Given the description of an element on the screen output the (x, y) to click on. 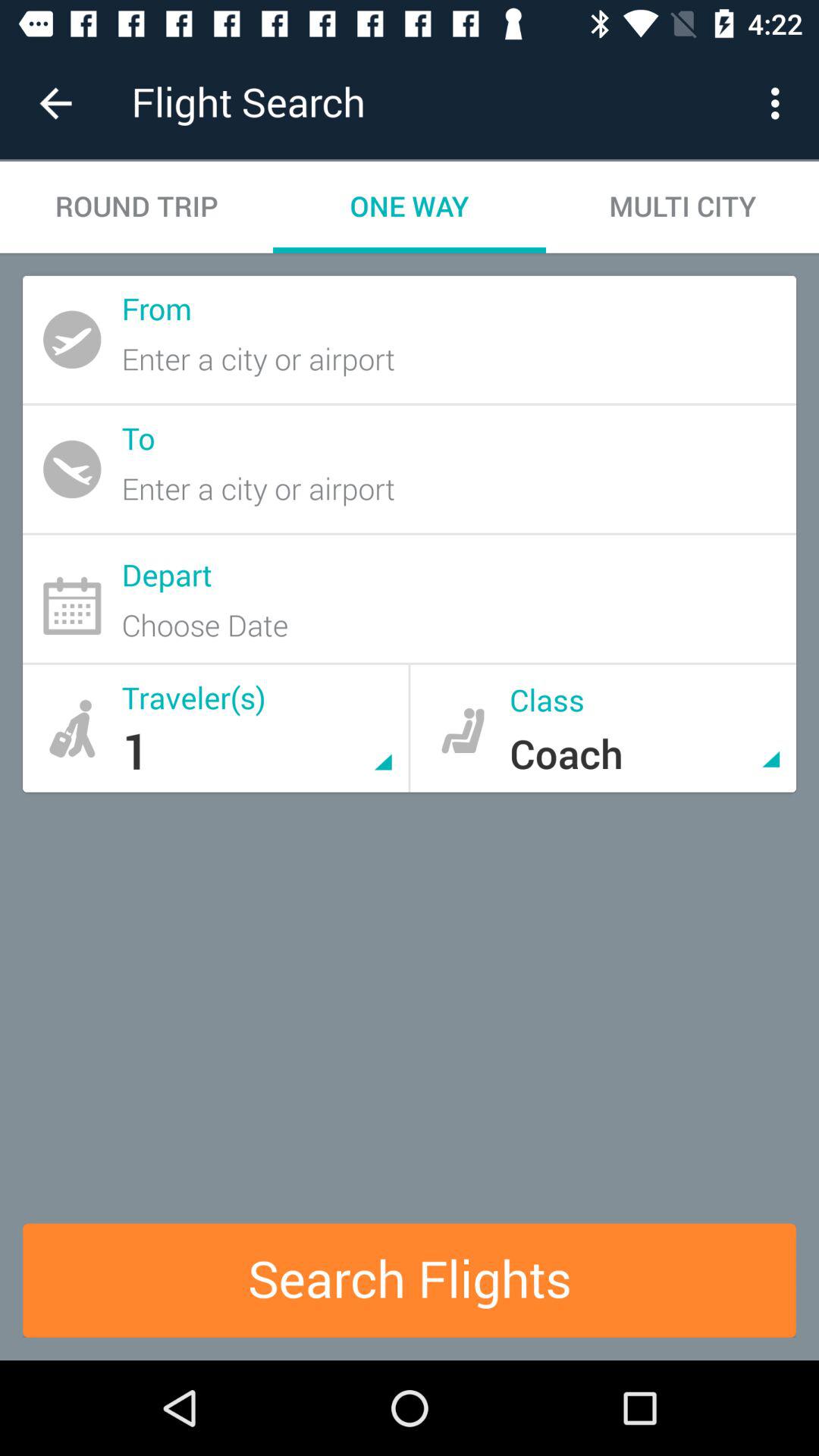
select search flights icon (409, 1280)
